Given the description of an element on the screen output the (x, y) to click on. 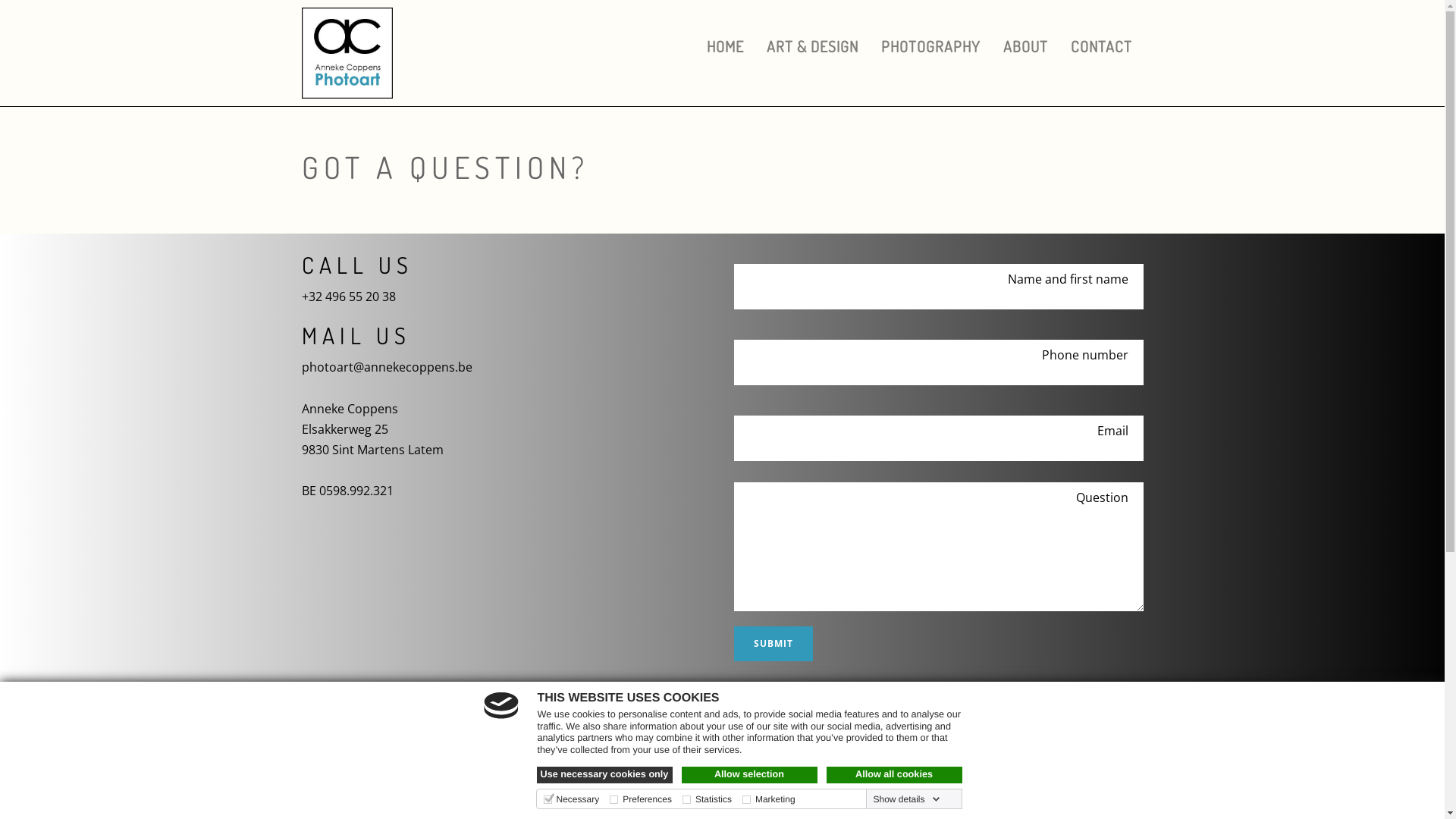
ABOUT Element type: text (1025, 46)
ART & DESIGN Element type: text (812, 46)
Use necessary cookies only Element type: text (604, 774)
Show details Element type: text (905, 799)
Allow all cookies Element type: text (894, 774)
+32 496 55 20 38 Element type: text (348, 296)
CONTACT Element type: text (1100, 46)
PHOTOGRAPHY Element type: text (930, 46)
SUBMIT Element type: text (773, 643)
Allow selection Element type: text (748, 774)
HOME Element type: text (724, 46)
photoart@annekecoppens.be Element type: text (386, 366)
